Given the description of an element on the screen output the (x, y) to click on. 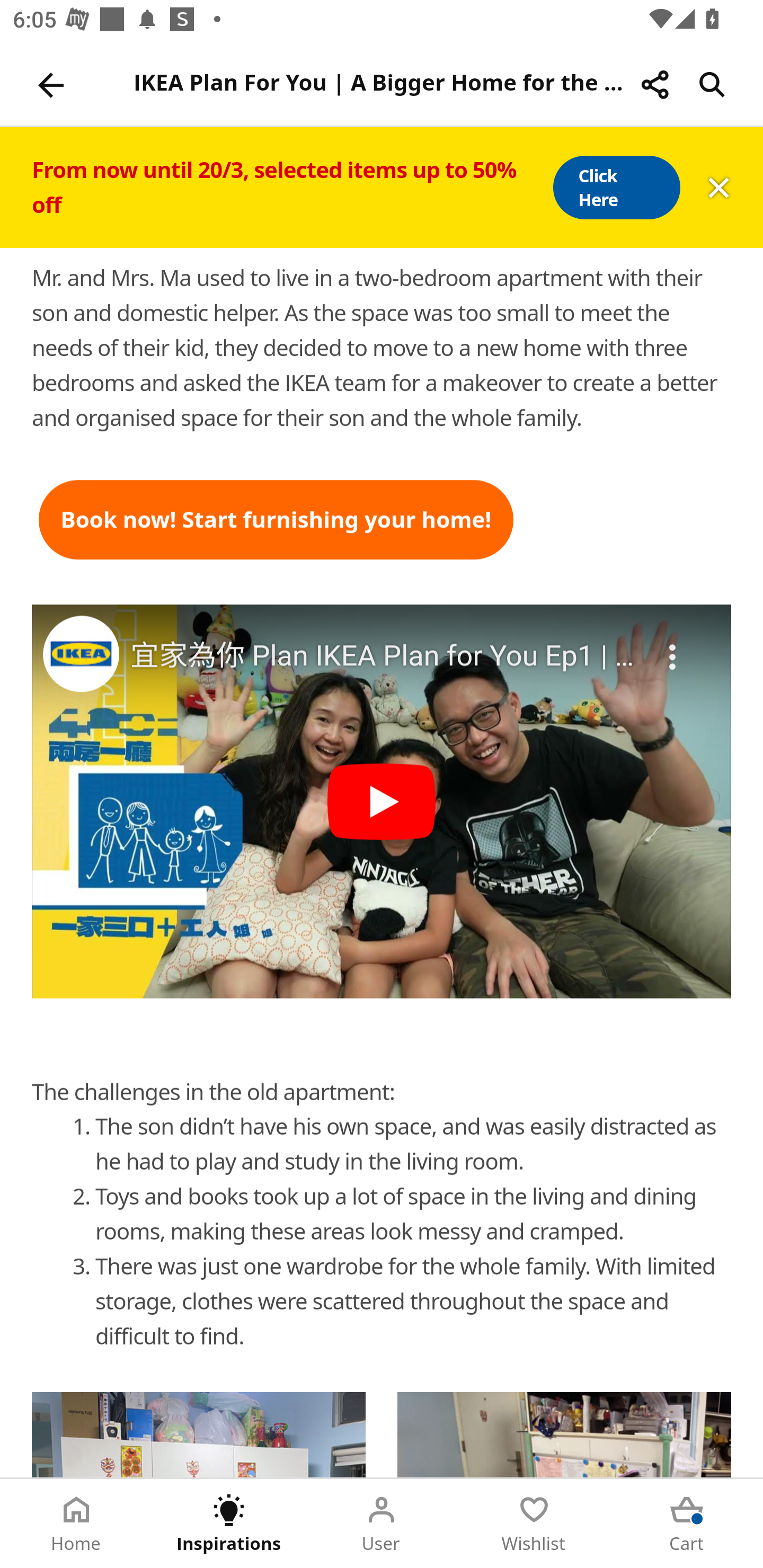
Click Here (615, 187)
Book now! Start furnishing your home! (276, 520)
More (673, 645)
Photo image of IKEAHongKong (80, 653)
宜家為你 Plan IKEA Plan for You Ep1 | IKEA Hong Kong (382, 655)
Play (381, 801)
Home
Tab 1 of 5 (76, 1522)
Inspirations
Tab 2 of 5 (228, 1522)
User
Tab 3 of 5 (381, 1522)
Wishlist
Tab 4 of 5 (533, 1522)
Cart
Tab 5 of 5 (686, 1522)
